Given the description of an element on the screen output the (x, y) to click on. 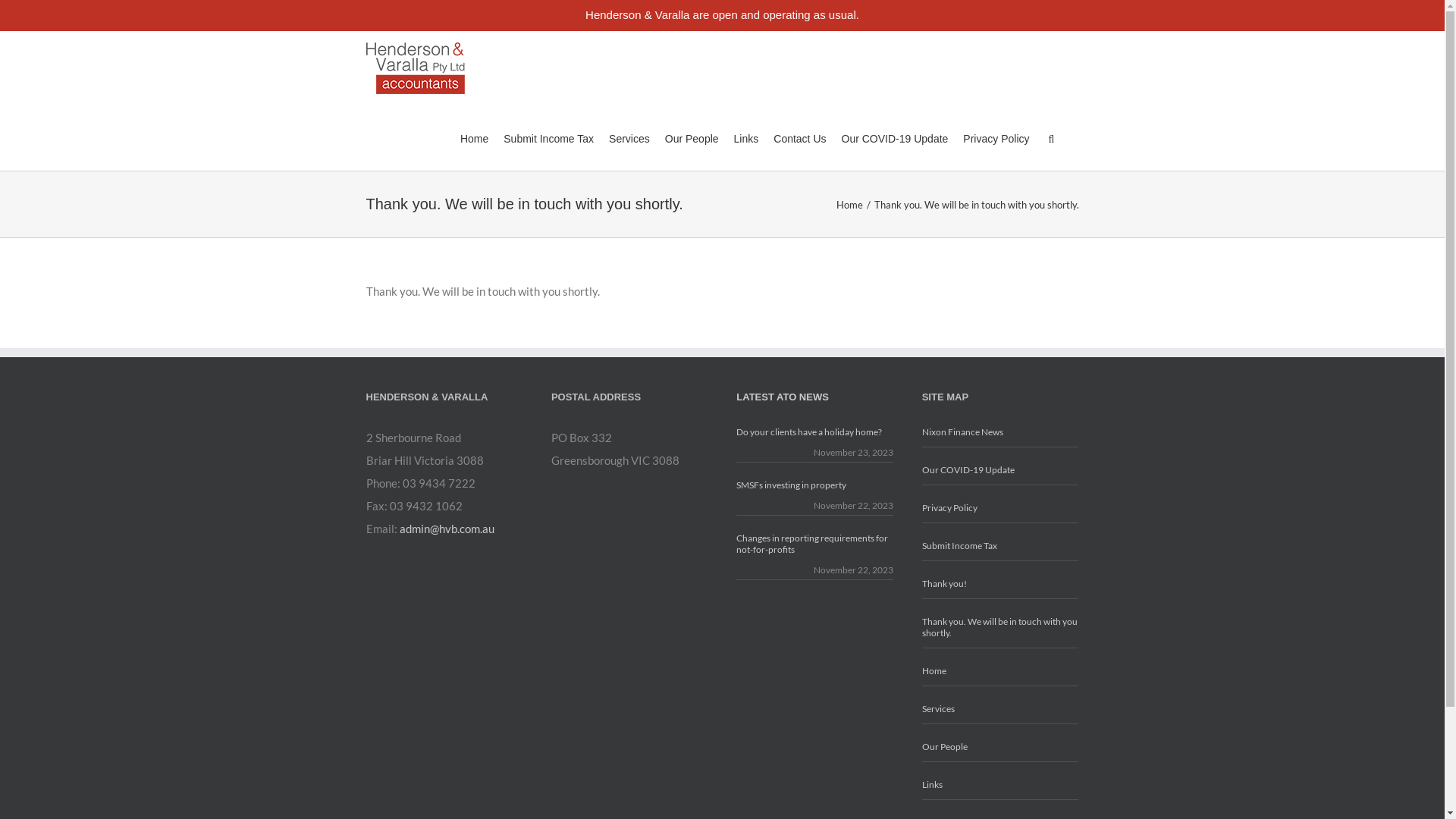
Submit Income Tax Element type: text (1000, 545)
Do your clients have a holiday home? Element type: text (814, 436)
Privacy Policy Element type: text (996, 137)
Services Element type: text (1000, 708)
Our COVID-19 Update Element type: text (1000, 470)
Home Element type: text (850, 204)
admin@hvb.com.au Element type: text (445, 528)
Thank you. We will be in touch with you shortly. Element type: text (1000, 627)
Nixon Finance News Element type: text (1000, 436)
Links Element type: text (1000, 784)
Changes in reporting requirements for not-for-profits Element type: text (814, 543)
Privacy Policy Element type: text (1000, 507)
Our People Element type: text (1000, 746)
Links Element type: text (746, 137)
Contact Us Element type: text (799, 137)
Our People Element type: text (691, 137)
Thank you! Element type: text (1000, 583)
Services Element type: text (628, 137)
Home Element type: text (1000, 670)
Submit Income Tax Element type: text (548, 137)
SMSFs investing in property Element type: text (814, 484)
LATEST ATO NEWS Element type: text (782, 396)
Home Element type: text (474, 137)
Our COVID-19 Update Element type: text (894, 137)
